Given the description of an element on the screen output the (x, y) to click on. 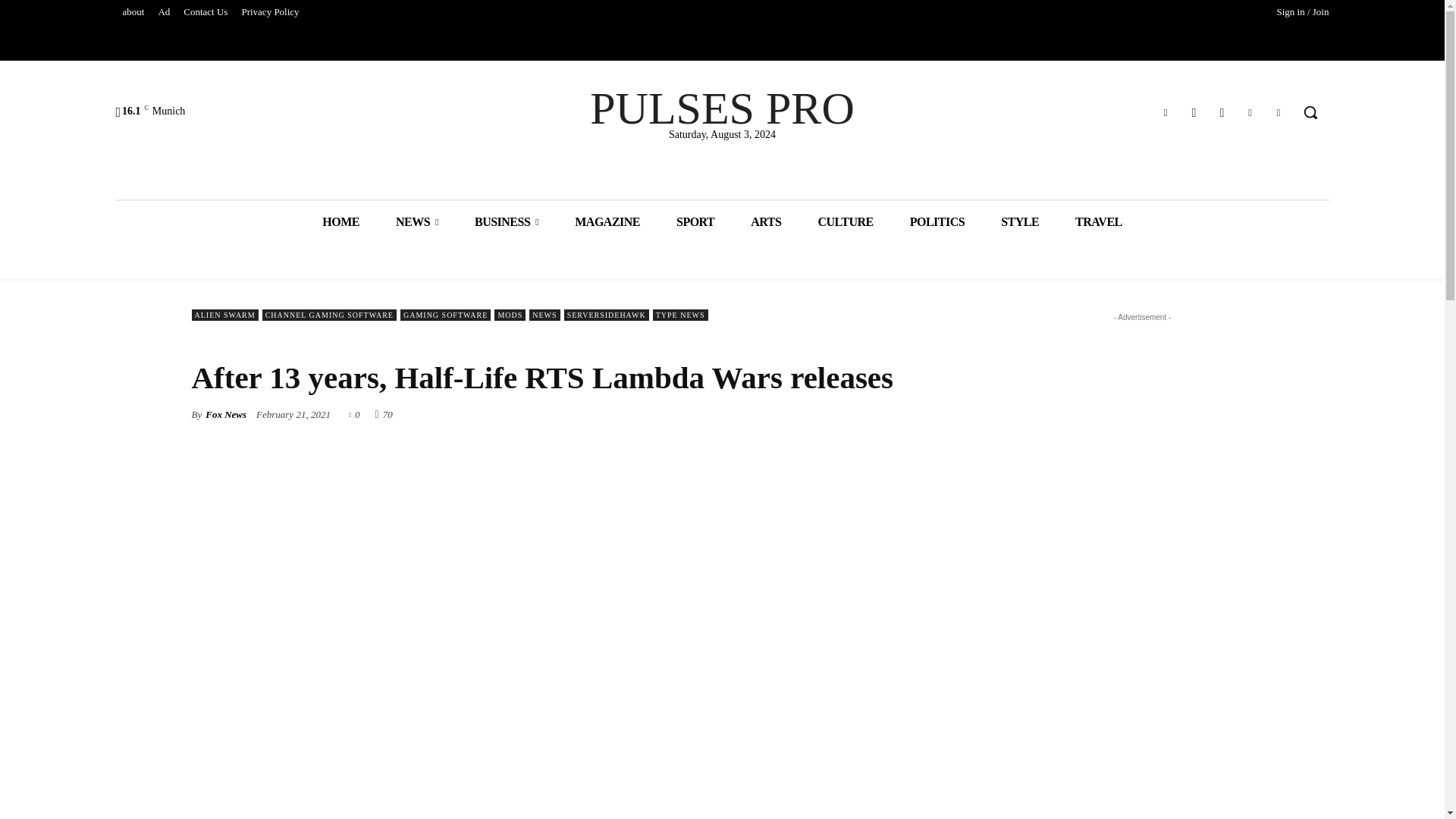
Privacy Policy (269, 12)
NEWS (417, 221)
Facebook (1193, 112)
Instagram (1221, 112)
Pinterest (1250, 112)
about (133, 12)
Blogger (1166, 112)
HOME (340, 221)
PULSES PRO (722, 108)
Contact Us (205, 12)
Ad (163, 12)
Twitter (1278, 112)
